Given the description of an element on the screen output the (x, y) to click on. 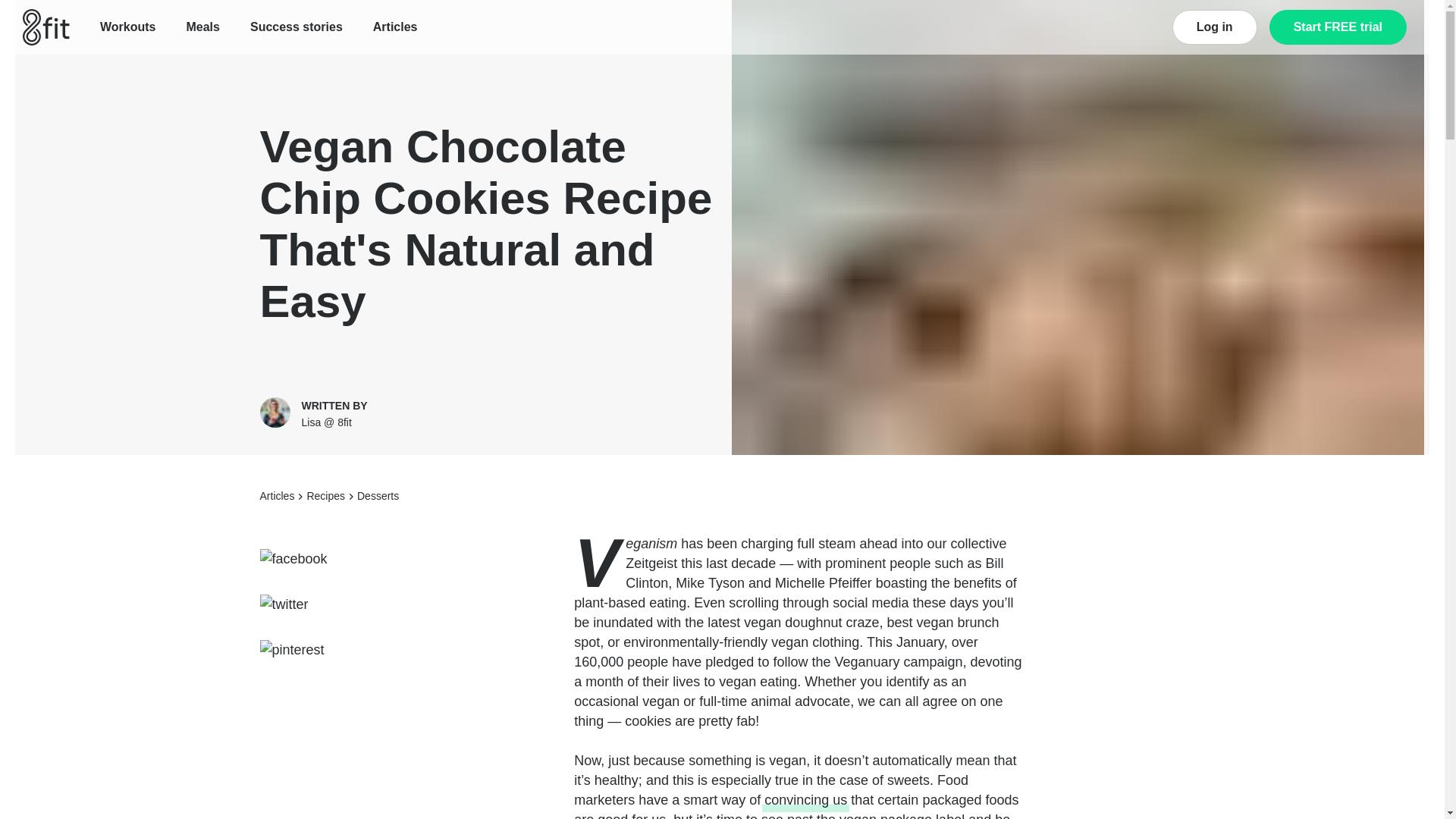
Meals (202, 26)
Start FREE trial (1337, 27)
Start FREE trial (1337, 27)
Recipes (325, 495)
Success stories (296, 26)
Articles (276, 495)
Log in (1214, 27)
Workouts (127, 26)
Desserts (377, 495)
convincing us (805, 799)
Articles (394, 26)
Log in (1214, 27)
